Given the description of an element on the screen output the (x, y) to click on. 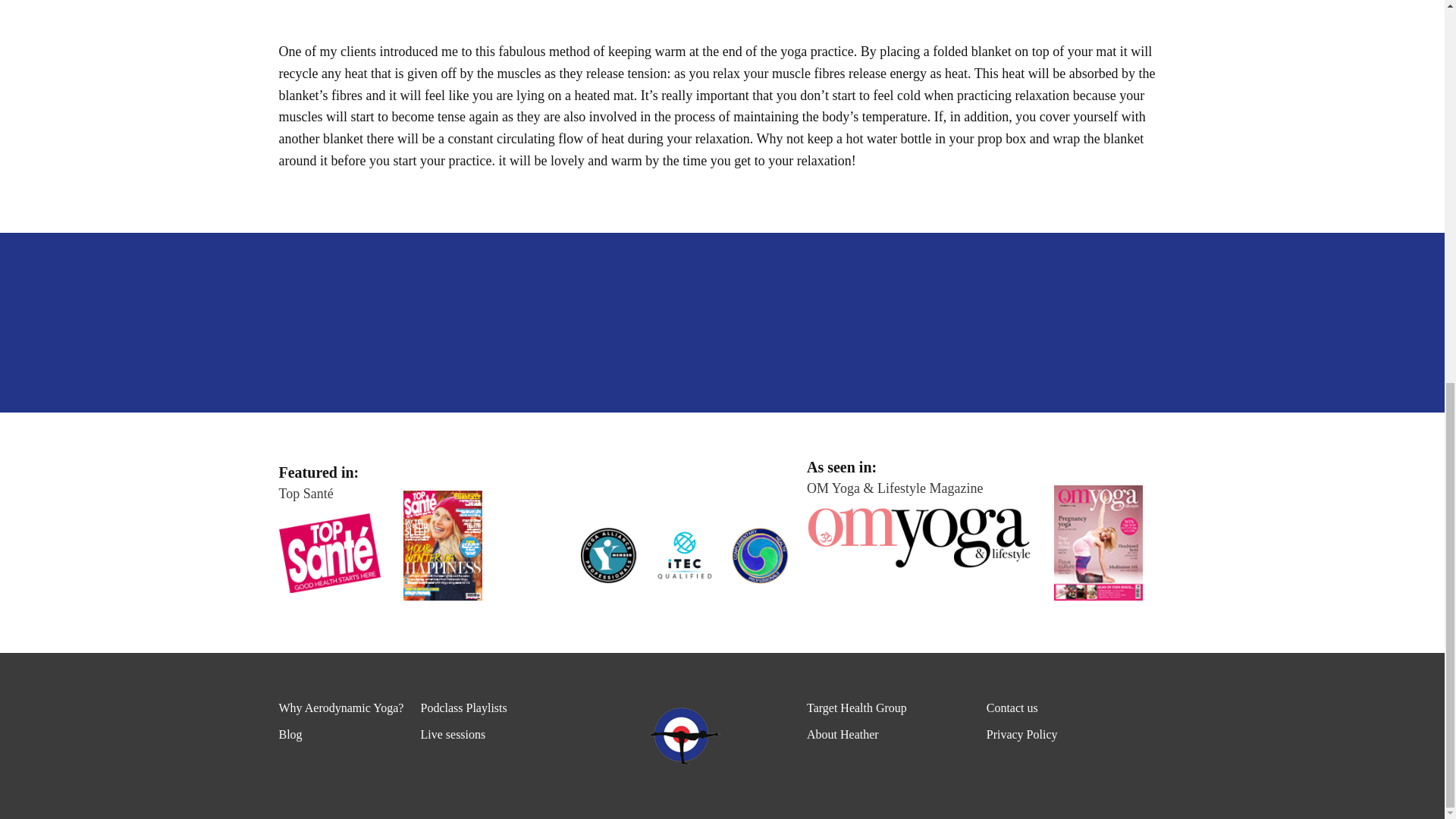
Blog (349, 733)
Podclass Playlists (491, 707)
Target Health Group (896, 707)
Why Aerodynamic Yoga? (349, 707)
Privacy Policy (1076, 733)
Live sessions (491, 733)
About Heather (896, 733)
Contact us (1076, 707)
